Given the description of an element on the screen output the (x, y) to click on. 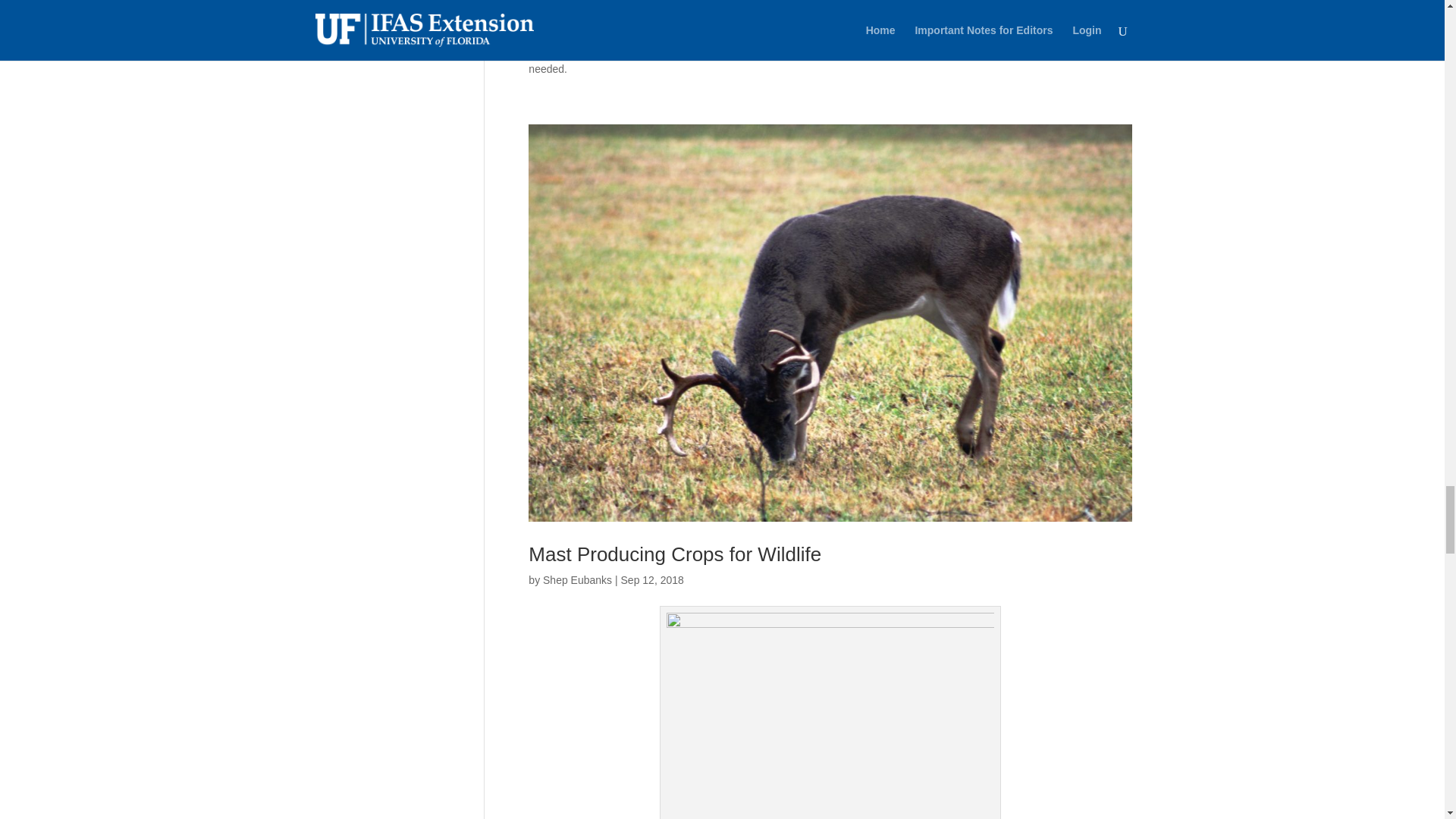
Common salvinia (571, 22)
Posts by Shep Eubanks (577, 580)
Shep Eubanks (577, 580)
Mast Producing Crops for Wildlife (674, 553)
local Extension Agent (864, 51)
